Given the description of an element on the screen output the (x, y) to click on. 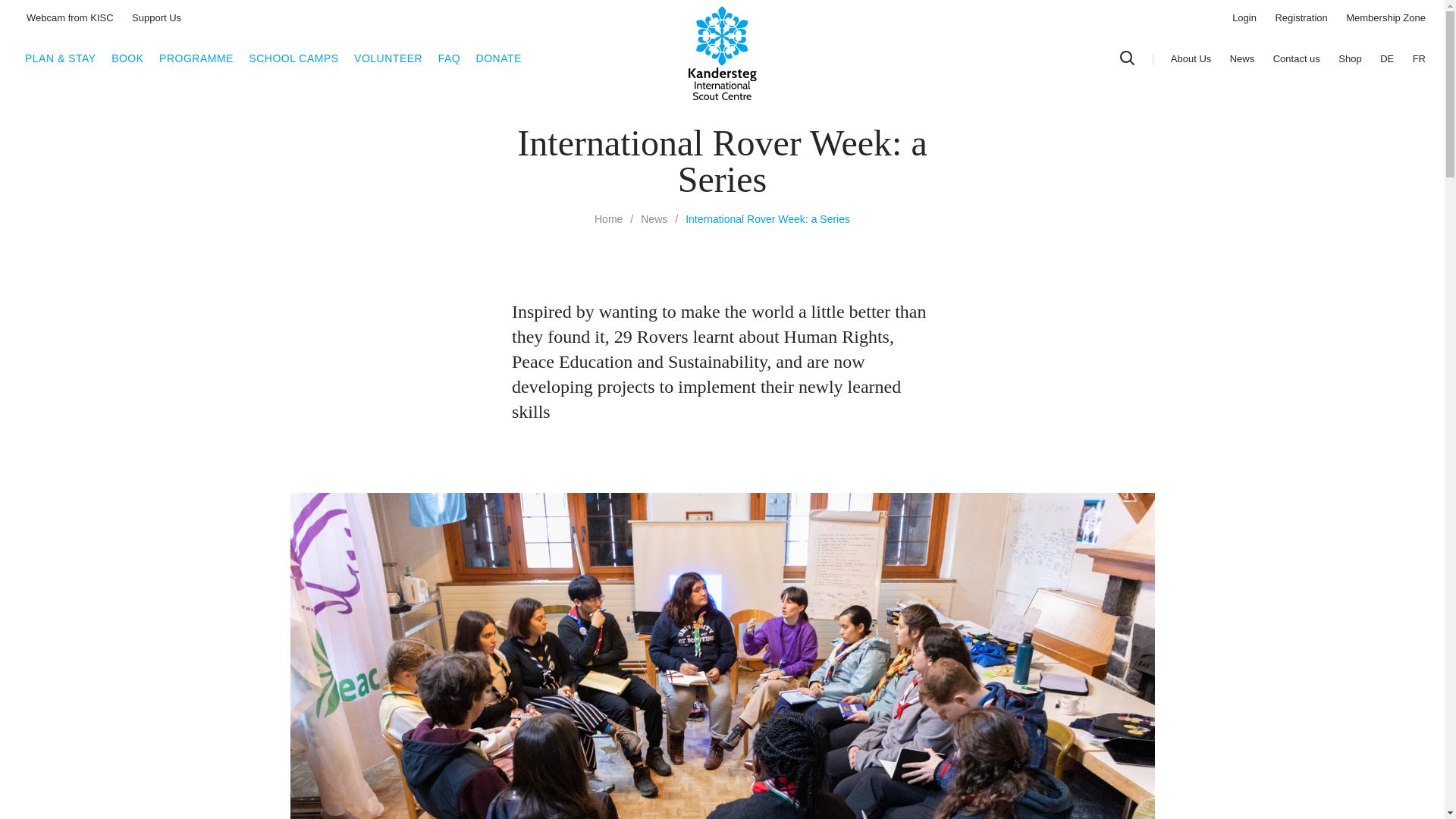
VOLUNTEER (387, 58)
DONATE (498, 58)
Support Us (156, 18)
Donate to the World Scout Centre (498, 58)
Webcam from KISC (69, 18)
Search (1127, 58)
PROGRAMME (195, 58)
Membership Zone (1385, 18)
Search (1127, 58)
SCHOOL CAMPS (292, 58)
